Given the description of an element on the screen output the (x, y) to click on. 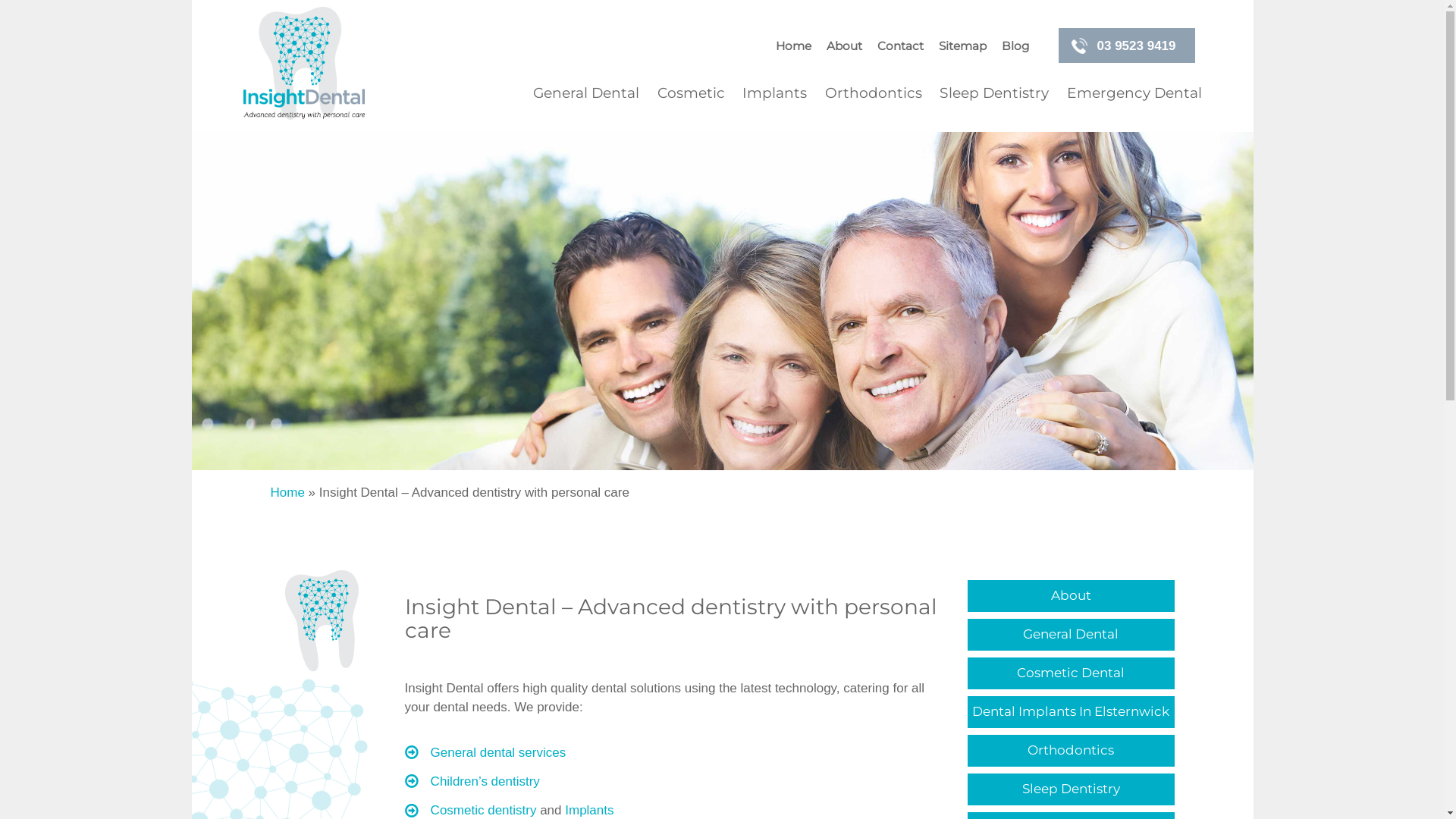
Sleep Dentistry Element type: text (1070, 789)
03 9523 9419 Element type: text (1126, 45)
Sleep Dentistry Element type: text (994, 92)
Cosmetic dentistry Element type: text (483, 810)
Home Element type: text (286, 492)
General dental services Element type: text (498, 752)
Home Element type: text (796, 46)
Sitemap Element type: text (961, 46)
Cosmetic Dental Element type: text (1070, 673)
Cosmetic Element type: text (690, 92)
About Element type: text (843, 46)
Orthodontics Element type: text (1070, 750)
About Element type: text (1070, 596)
Blog Element type: text (1012, 46)
Dental Implants In Elsternwick Element type: text (1070, 712)
Emergency Dental Element type: text (1130, 92)
General Dental Element type: text (589, 92)
Contact Element type: text (899, 46)
Orthodontics Element type: text (872, 92)
General Dental Element type: text (1070, 634)
Implants Element type: text (588, 810)
Implants Element type: text (774, 92)
